Given the description of an element on the screen output the (x, y) to click on. 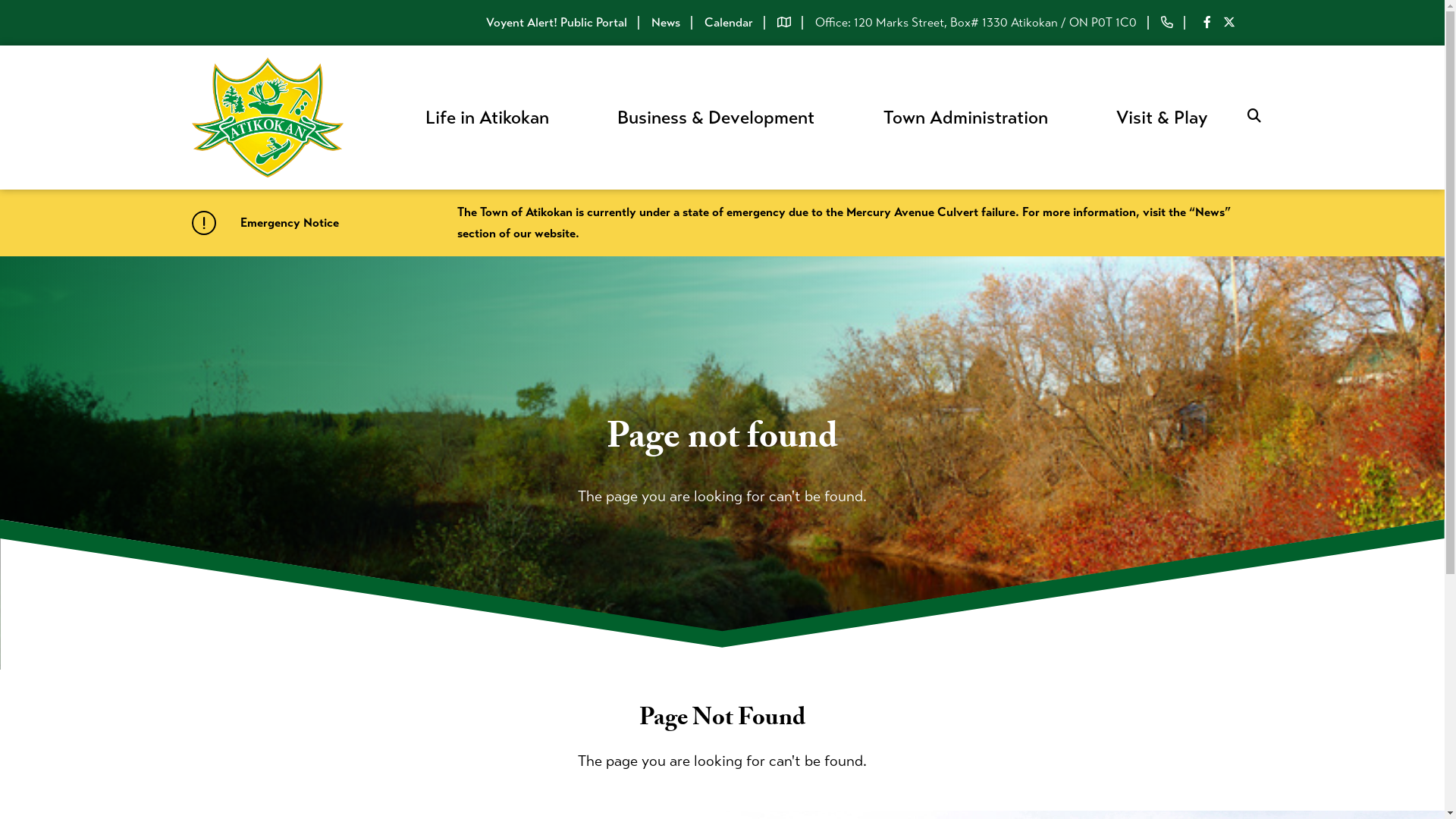
Town Administration Element type: text (965, 117)
Business & Development Element type: text (715, 117)
Town of Atikokan Element type: hover (266, 117)
Voyent Alert! Public Portal Element type: text (555, 22)
News Element type: text (664, 22)
Calendar Element type: text (727, 22)
Visit & Play Element type: text (1161, 117)
Life in Atikokan Element type: text (486, 117)
